Given the description of an element on the screen output the (x, y) to click on. 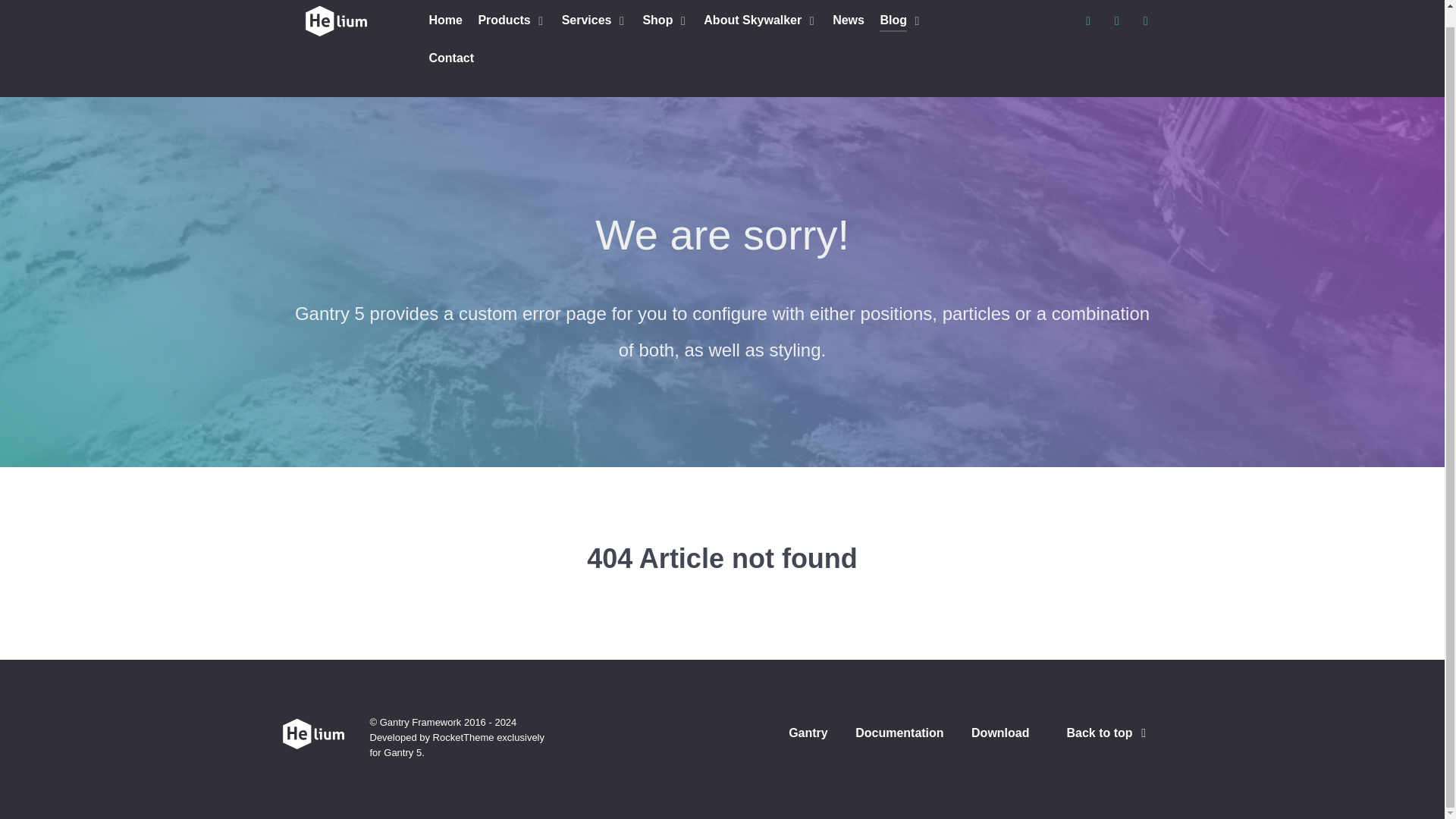
Products (511, 21)
Gantry (808, 736)
Download (1000, 736)
Back to top (1108, 732)
Home (446, 21)
Documentation (899, 736)
